Given the description of an element on the screen output the (x, y) to click on. 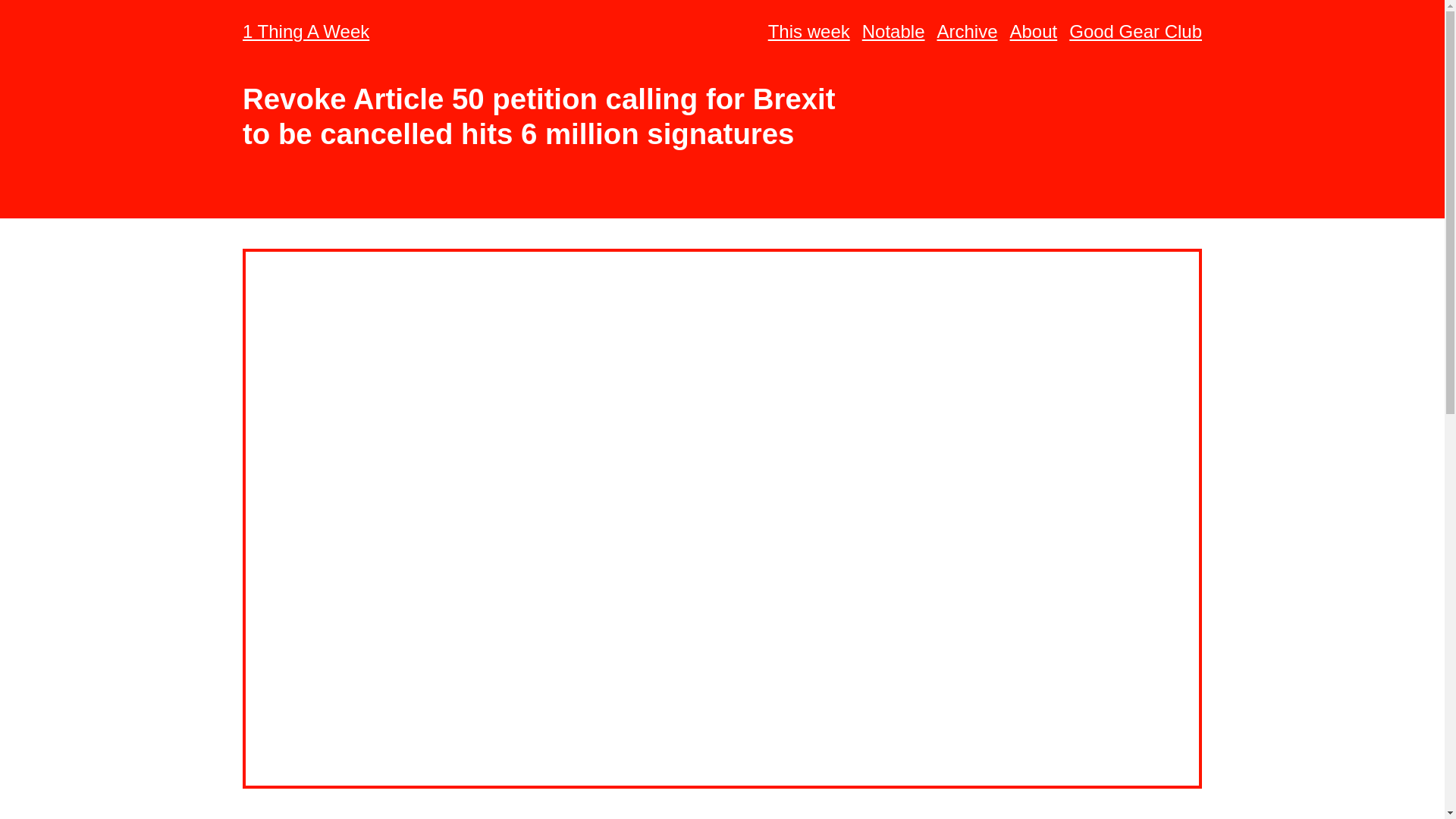
Good Gear Club (1135, 31)
About (1034, 31)
Archive (966, 31)
Notable (892, 31)
1 Thing A Week (306, 31)
This week (809, 31)
